Given the description of an element on the screen output the (x, y) to click on. 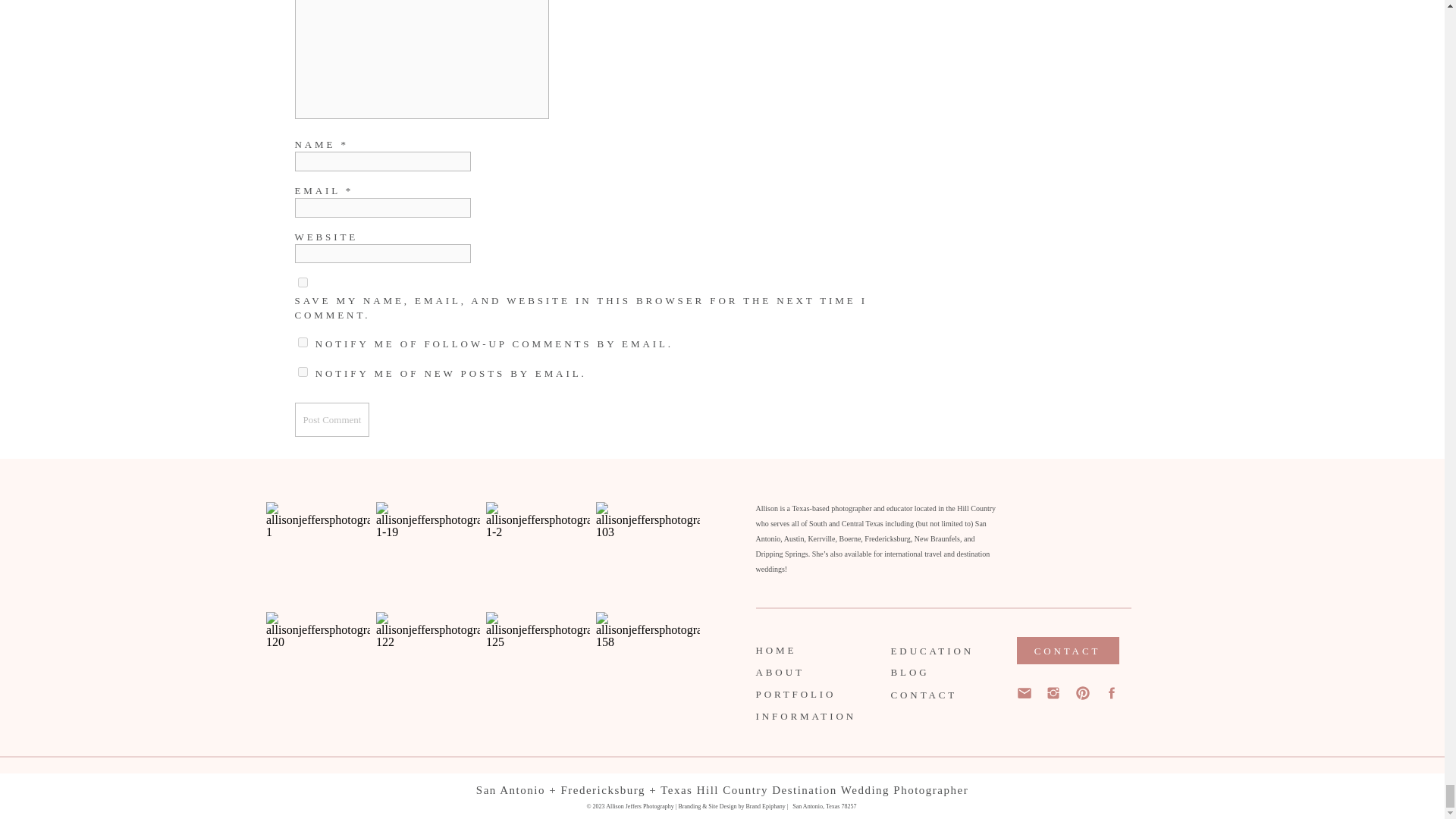
allisonjeffersphotography-1 (317, 554)
subscribe (302, 342)
allisonjeffersphotography-125 (537, 663)
allisonjeffersphotography-122 (427, 663)
allisonjeffersphotography-120 (317, 663)
subscribe (302, 371)
allisonjeffersphotography-1-2 (537, 554)
allisonjeffersphotography-1-19 (427, 554)
allisonjeffersphotography-158 (647, 663)
yes (302, 282)
Post Comment (331, 419)
allisonjeffersphotography-103 (647, 554)
